Given the description of an element on the screen output the (x, y) to click on. 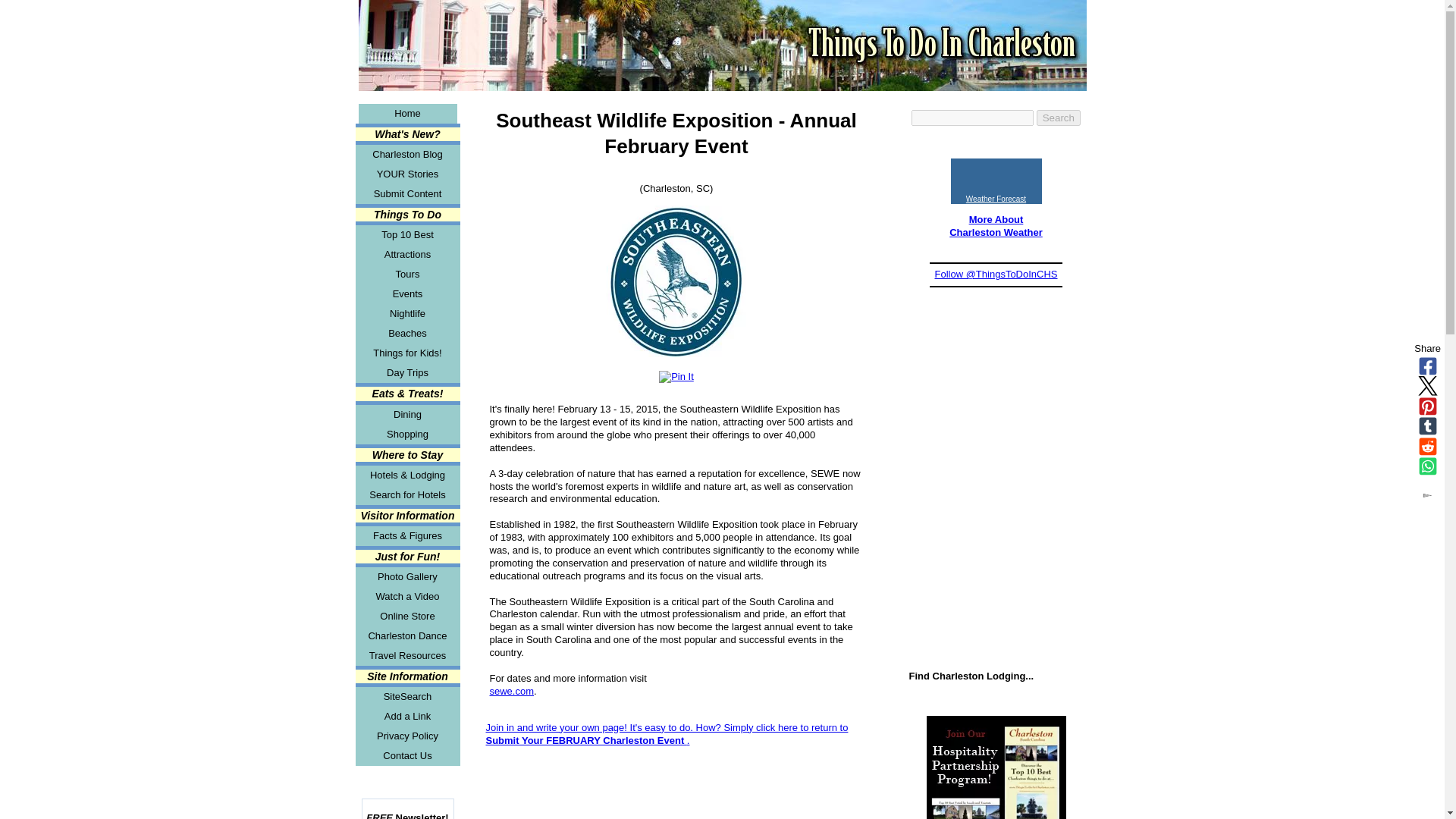
Search (1058, 117)
Things for Kids! (407, 353)
sewe.com (511, 690)
Travel Resources (407, 655)
Dining (407, 414)
Watch a Video (407, 596)
Nightlife (407, 313)
Events (407, 293)
Weather Forecast (996, 198)
Day Trips (407, 373)
Contact Us (407, 755)
Search for Hotels (407, 495)
Charleston Dance (407, 636)
Charleston Hospitality Partnership Program (995, 767)
